Given the description of an element on the screen output the (x, y) to click on. 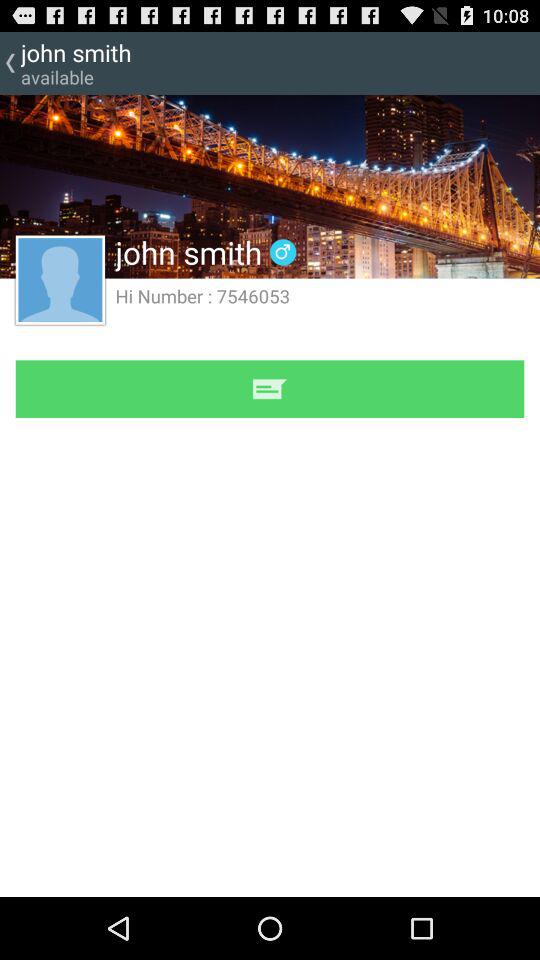
tap icon below the available item (60, 279)
